Given the description of an element on the screen output the (x, y) to click on. 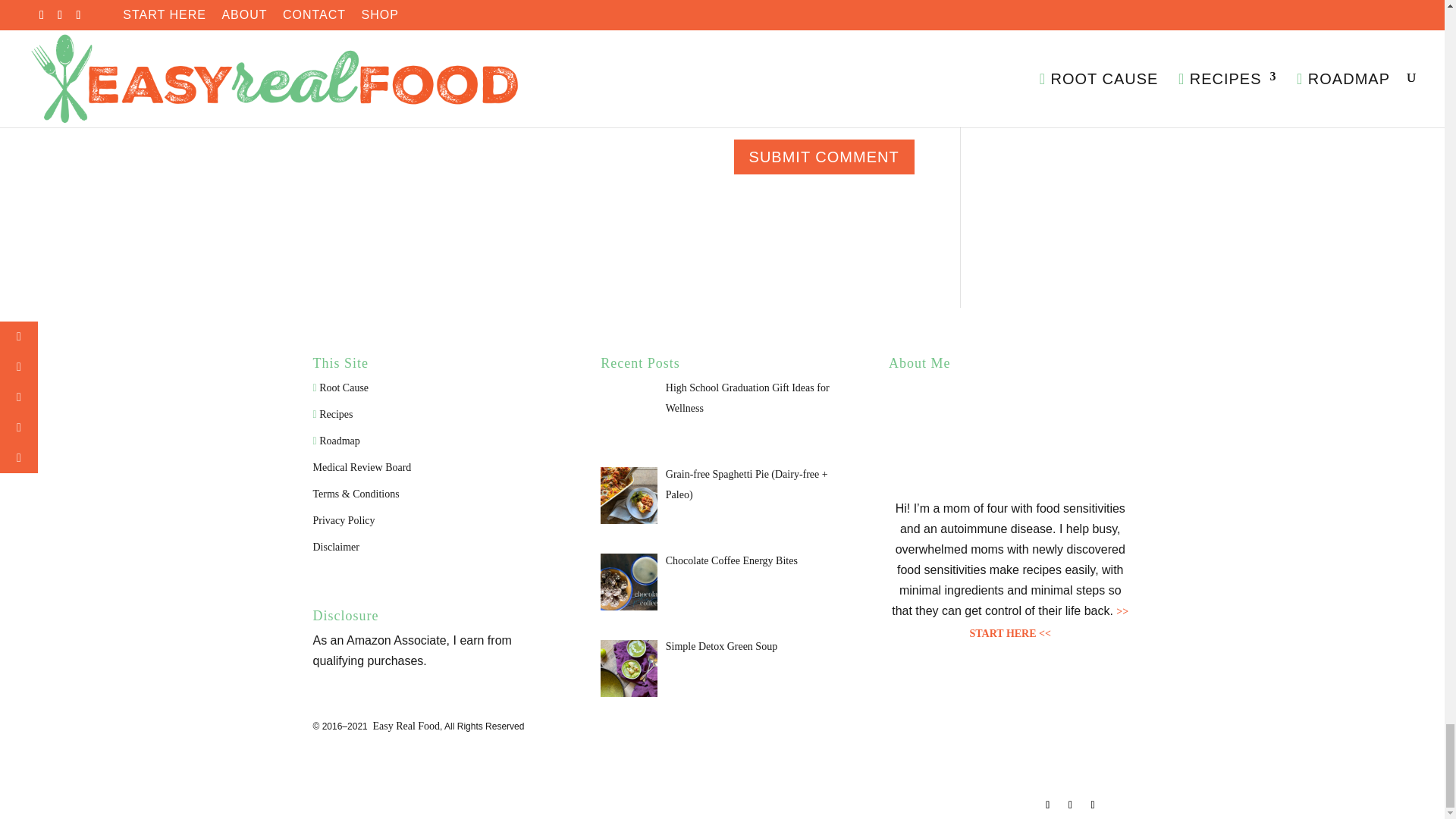
Submit Comment (823, 157)
